Given the description of an element on the screen output the (x, y) to click on. 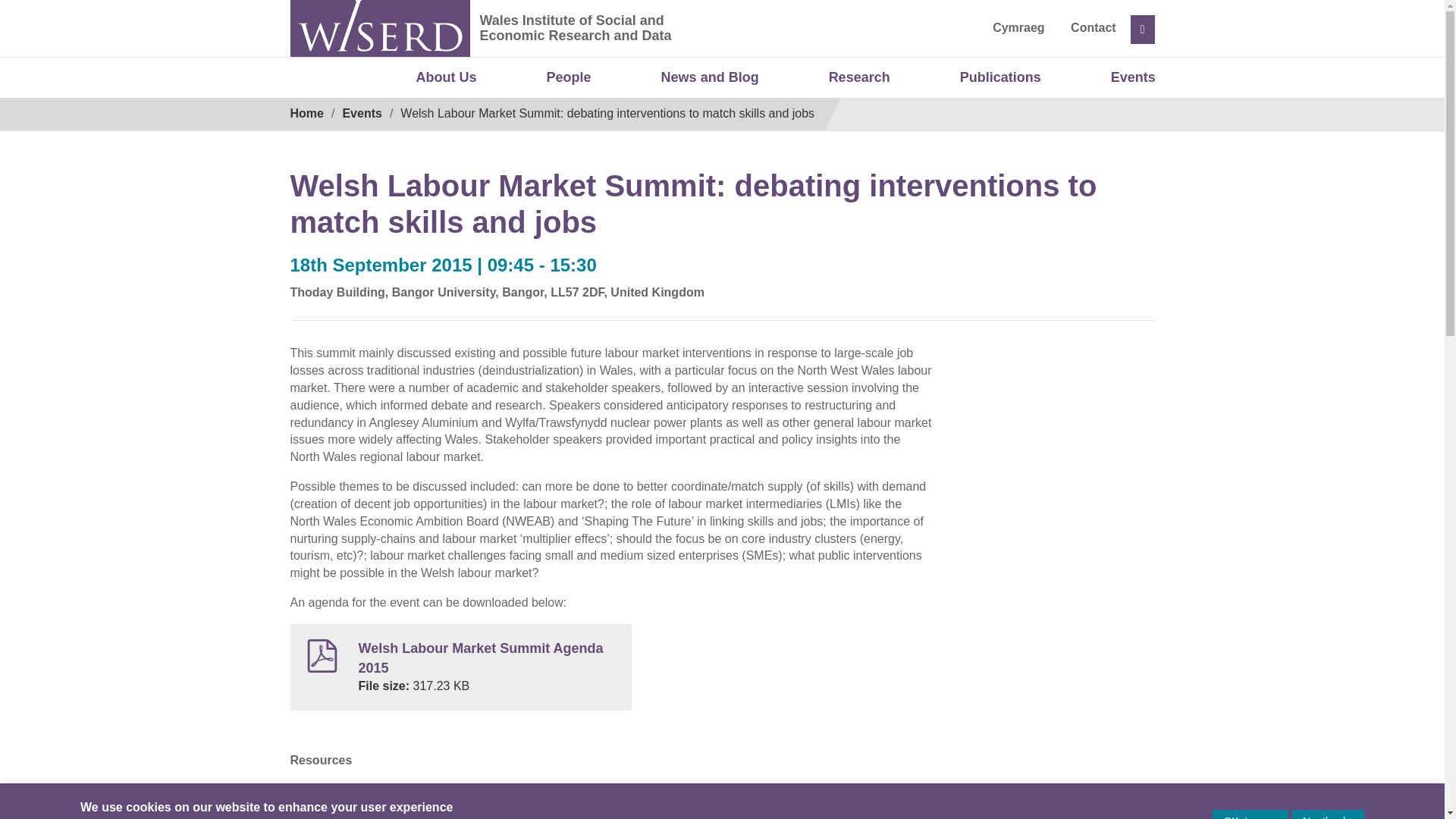
Events (1133, 78)
Welsh Labour Market Summit Agenda 2015 (480, 657)
People (568, 78)
Home (306, 113)
Publications (999, 78)
WISERD (378, 28)
News and Blog (710, 78)
Cymraeg (1018, 27)
Wales Institute of Social and Economic Research and Data (690, 41)
Events (361, 113)
Contact (1092, 27)
About Us (446, 78)
Welsh Labour Market Summit Agenda 2015 (480, 657)
Research (859, 78)
